Given the description of an element on the screen output the (x, y) to click on. 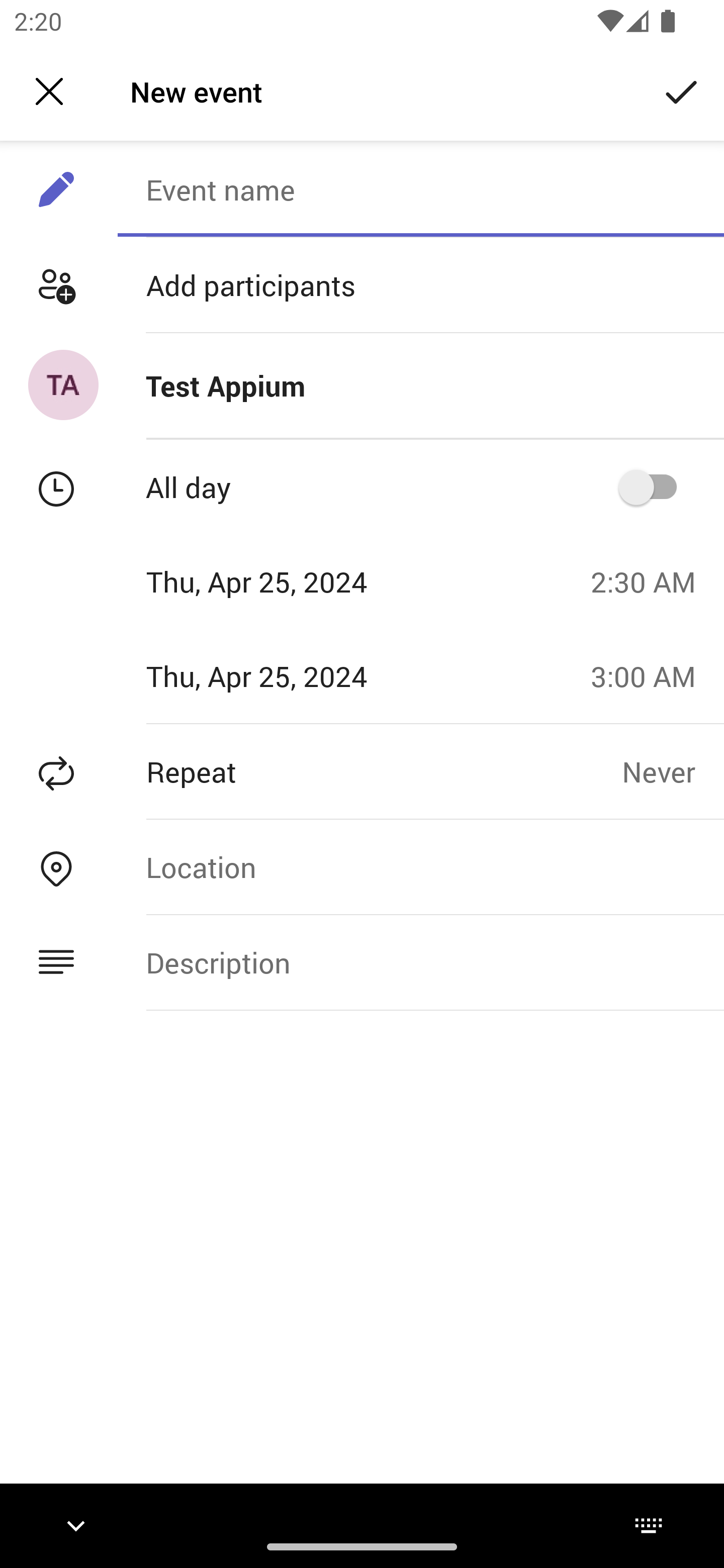
Back (49, 91)
Send invite (681, 90)
Event name (420, 189)
Add participants Add participants option (362, 285)
All day (654, 486)
Thu, Apr 25, 2024 Starts Thursday Apr 25, 2024 (288, 581)
2:30 AM Start time 2:30 AM (650, 581)
Thu, Apr 25, 2024 Ends Thursday Apr 25, 2024 (288, 675)
3:00 AM End time 3:00 AM (650, 675)
Repeat (310, 771)
Never Repeat Never (672, 771)
Location (420, 867)
Description (420, 962)
